Given the description of an element on the screen output the (x, y) to click on. 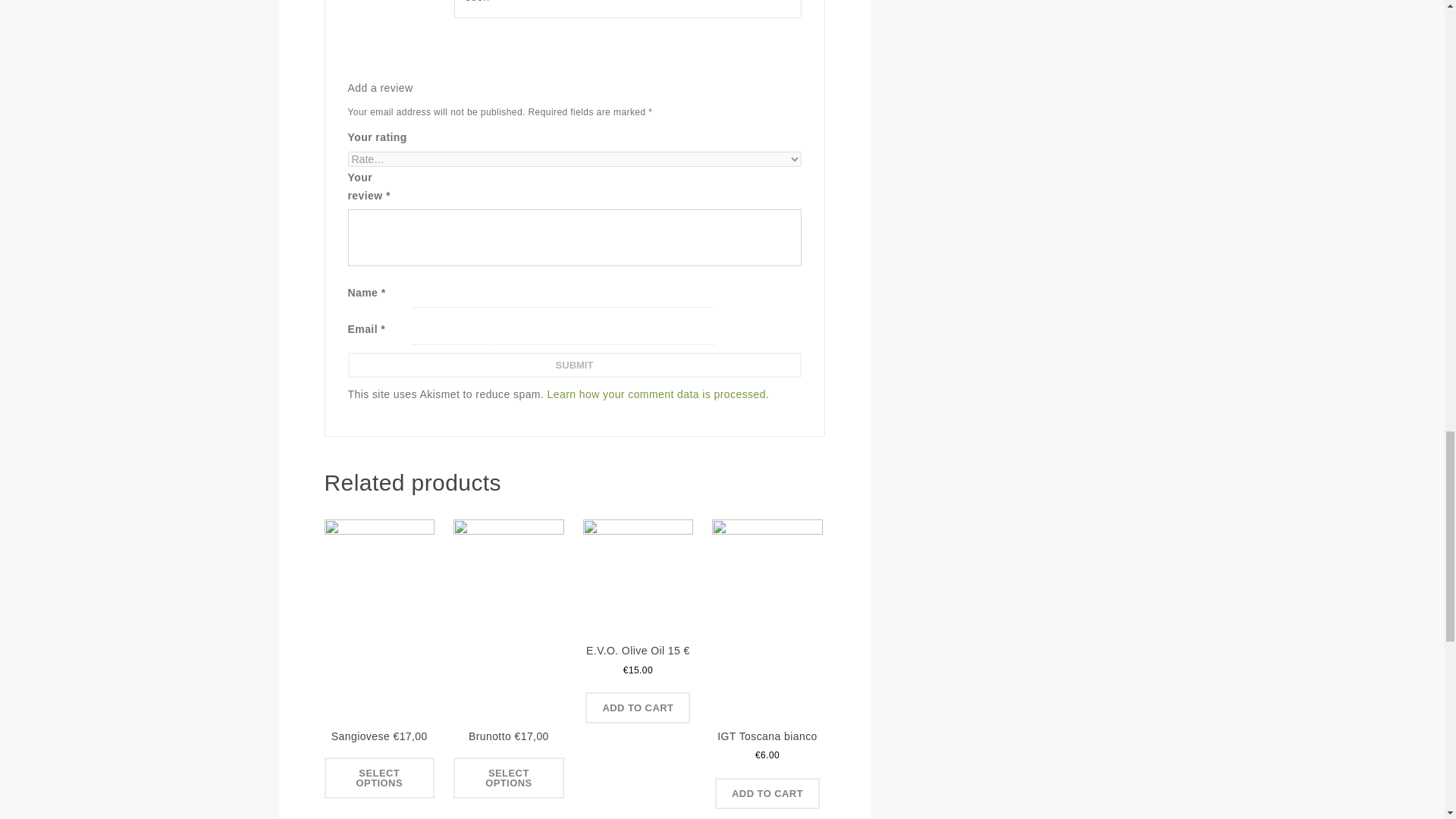
ADD TO CART (766, 793)
SELECT OPTIONS (379, 777)
SELECT OPTIONS (508, 777)
Learn how your comment data is processed (656, 394)
Submit (573, 364)
Submit (573, 364)
ADD TO CART (637, 707)
